Given the description of an element on the screen output the (x, y) to click on. 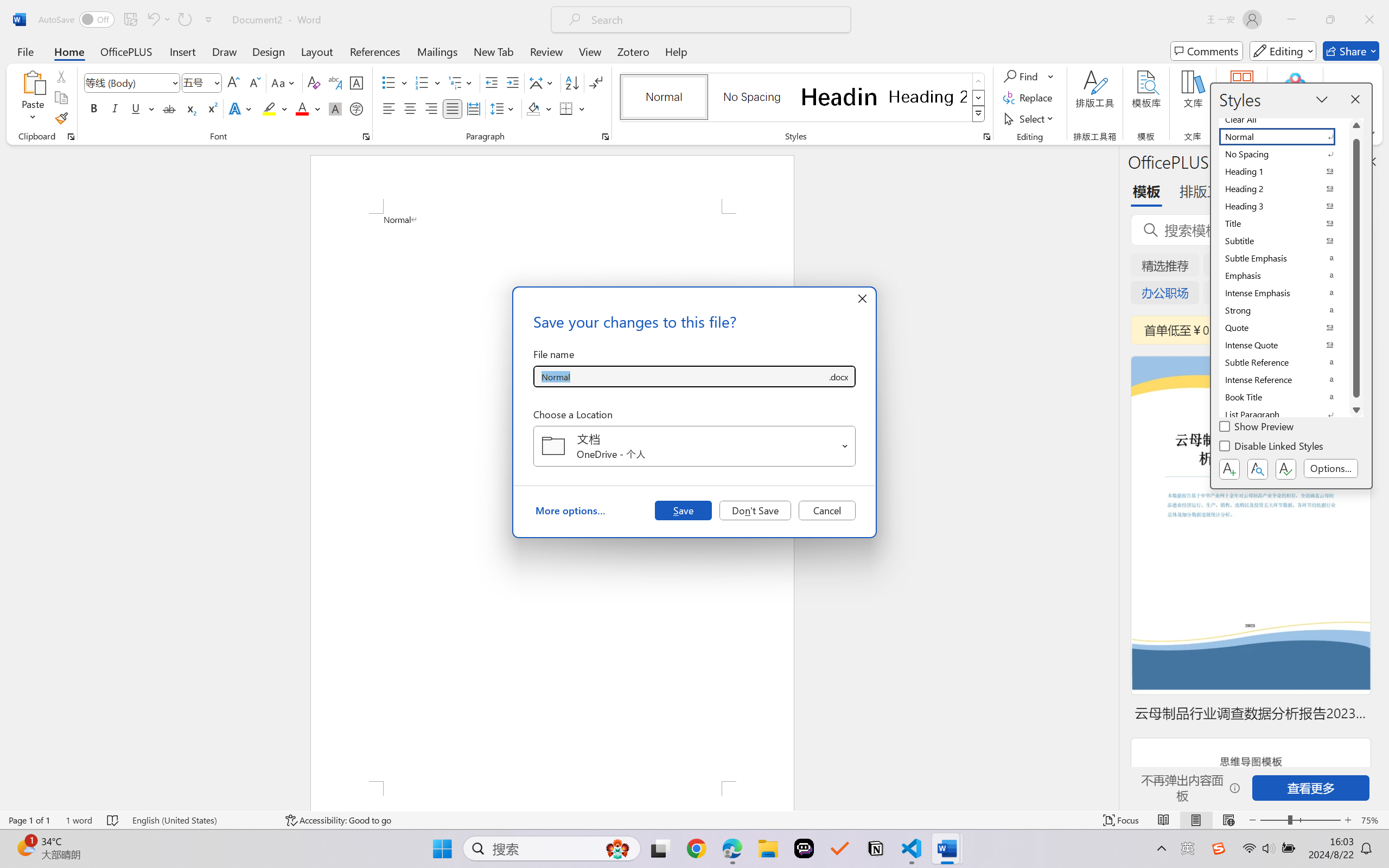
Center (409, 108)
Minimize (1291, 19)
List Paragraph (1283, 414)
Subtle Reference (1283, 362)
Clear All (1283, 119)
Borders (566, 108)
Find (1022, 75)
Class: NetUIScrollBar (1111, 477)
Undo Apply Quick Style (152, 19)
Show Preview (1257, 428)
